Given the description of an element on the screen output the (x, y) to click on. 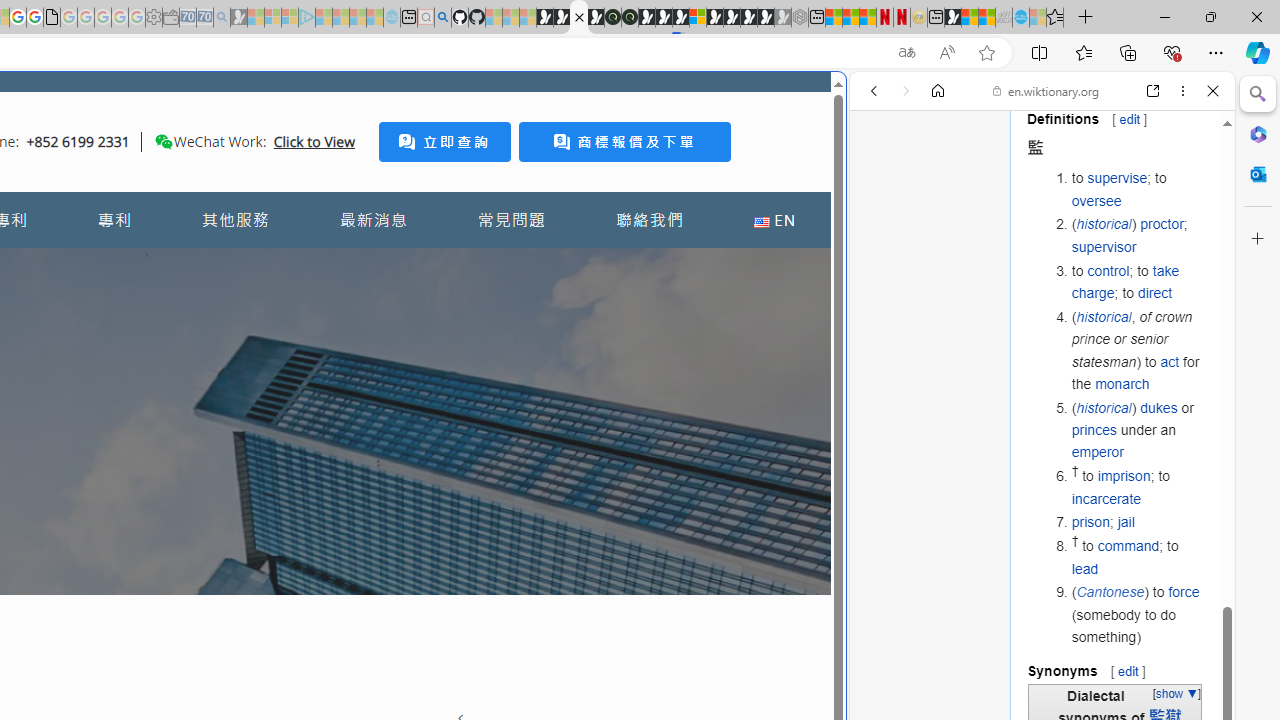
act (1169, 361)
jail (1126, 522)
github - Search (442, 17)
to supervise; to oversee (1137, 189)
EN (774, 220)
